Given the description of an element on the screen output the (x, y) to click on. 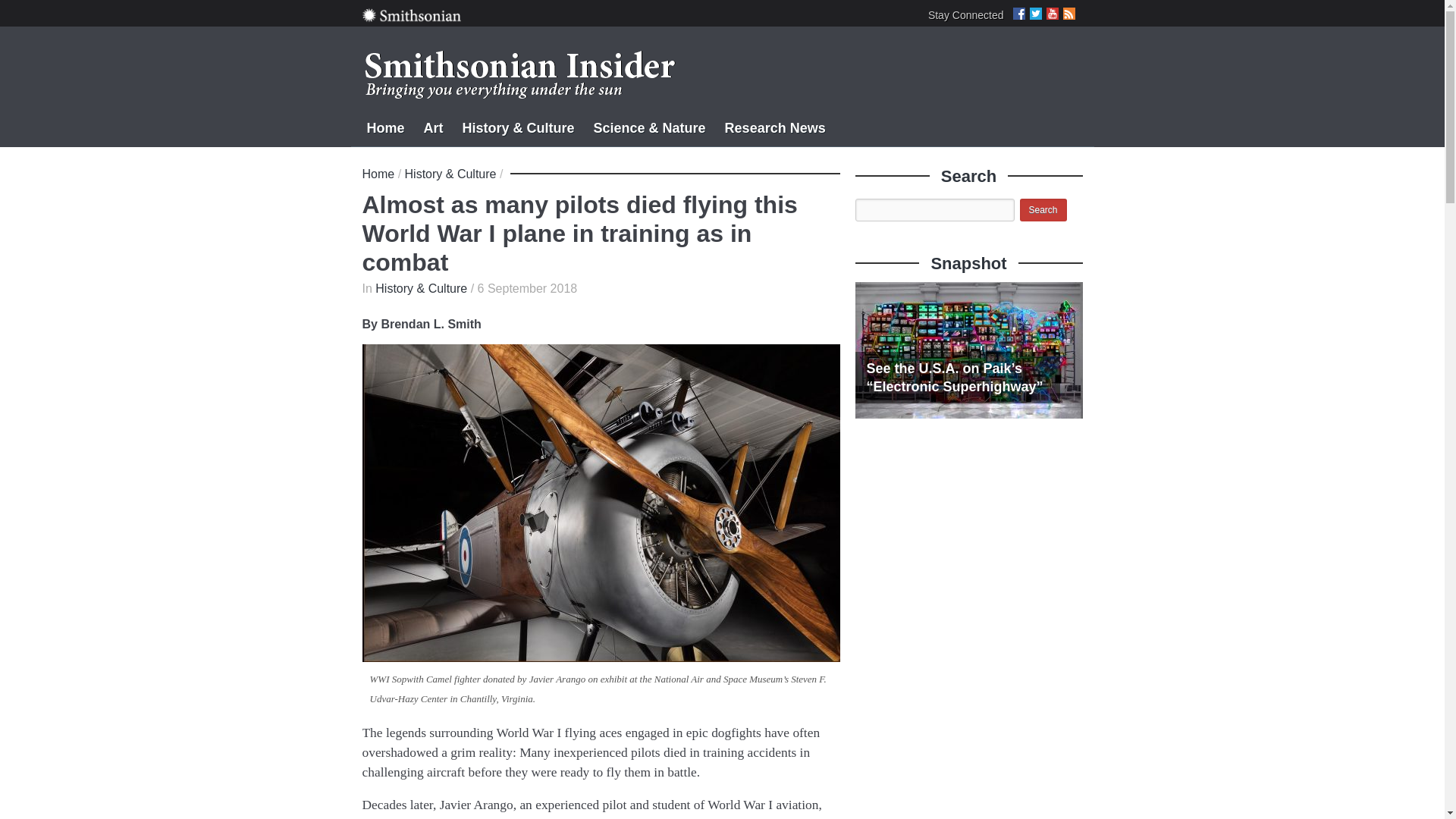
Home (378, 173)
Research News (774, 126)
Home (385, 126)
Search (1042, 210)
Search (1042, 210)
Art (433, 126)
